Given the description of an element on the screen output the (x, y) to click on. 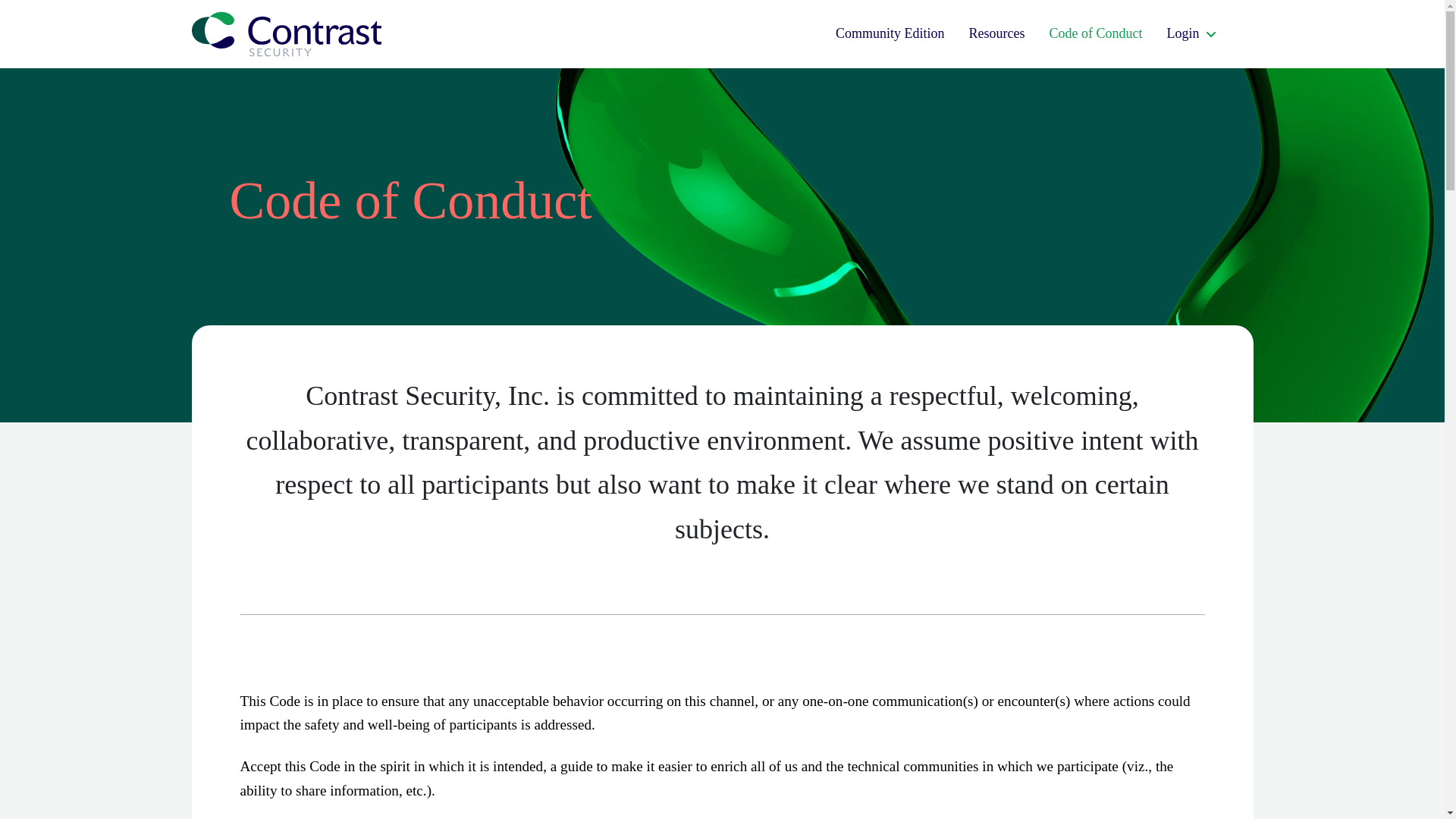
Resources (996, 33)
Code of Conduct (1095, 33)
Community Edition (890, 33)
Login (1191, 33)
